Given the description of an element on the screen output the (x, y) to click on. 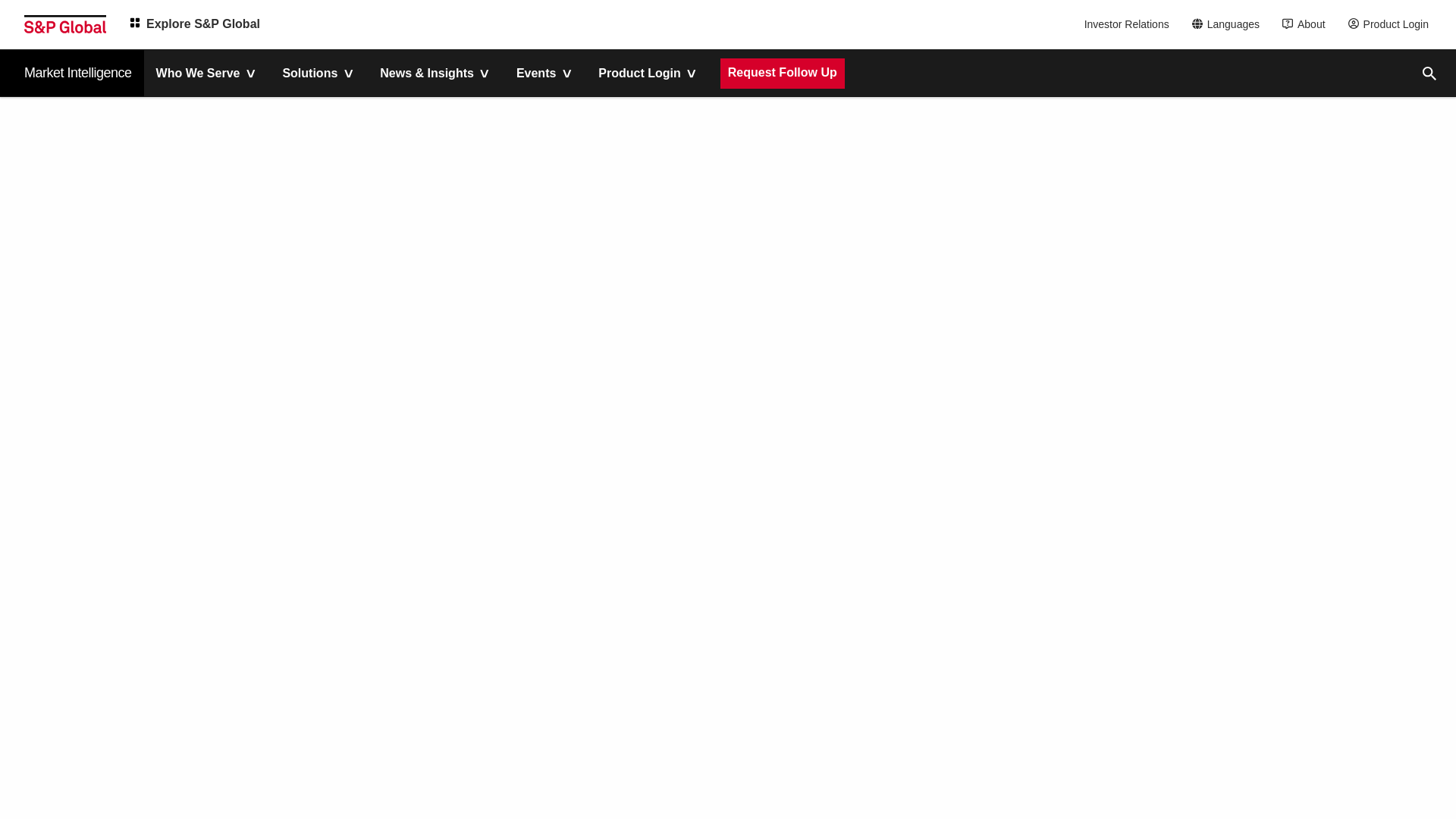
Product Login (1392, 24)
About (1307, 24)
Investor Relations (1129, 24)
Languages (1230, 24)
